Given the description of an element on the screen output the (x, y) to click on. 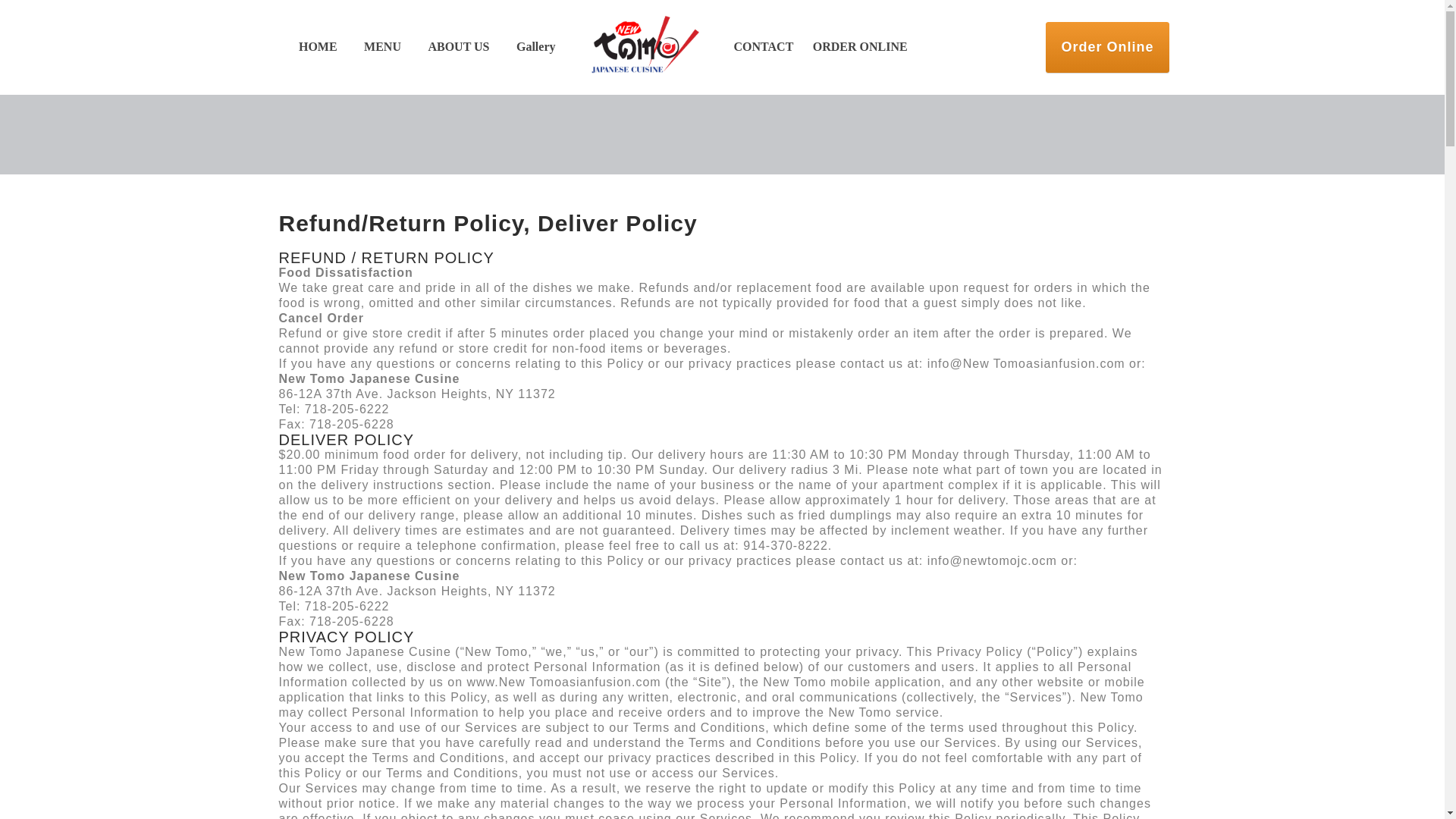
Gallery (530, 46)
ABOUT US (458, 46)
MENU (382, 46)
HOME (317, 46)
CONTACT (766, 46)
ORDER ONLINE (860, 46)
